Given the description of an element on the screen output the (x, y) to click on. 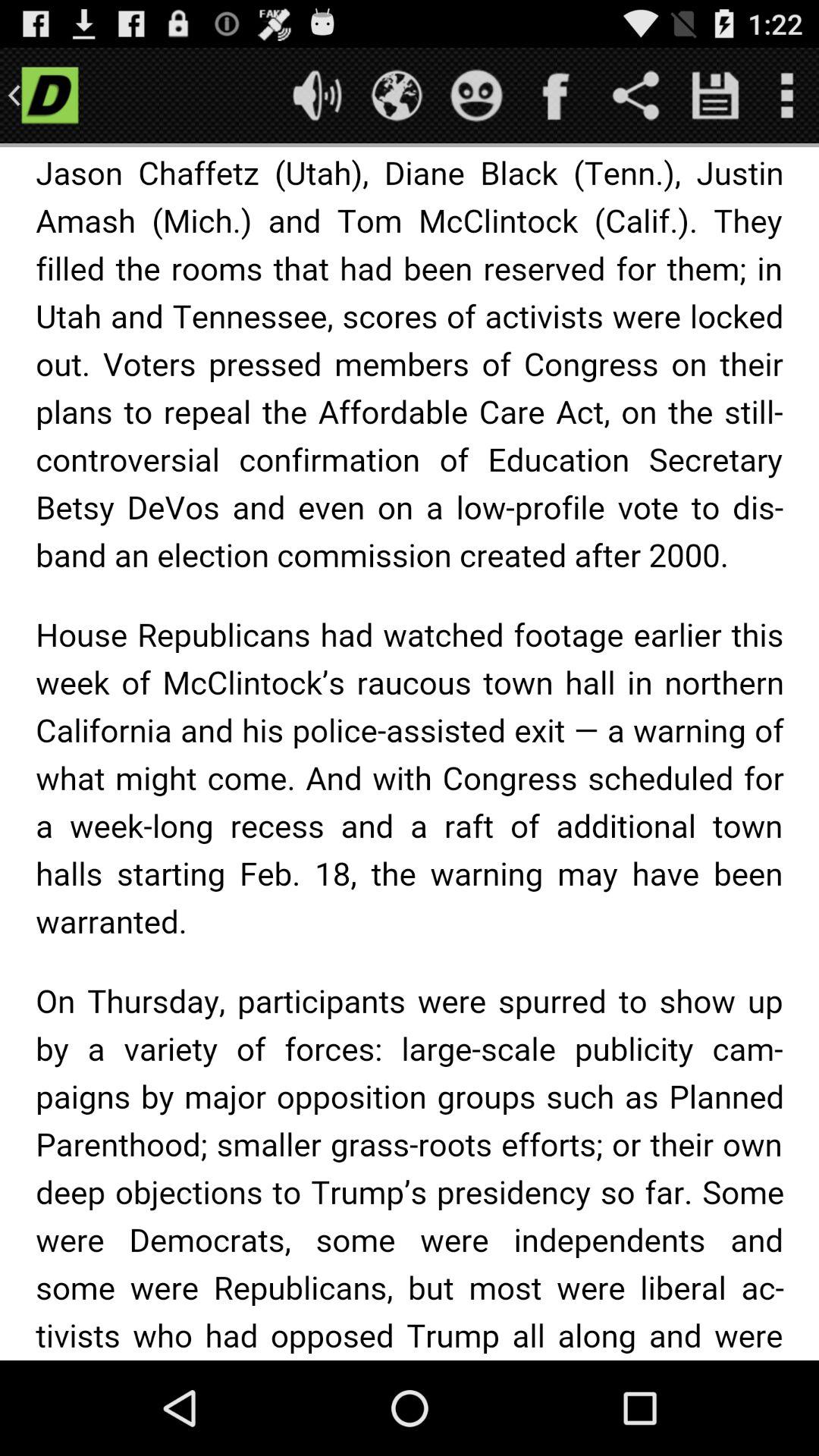
share on facebook (556, 95)
